Given the description of an element on the screen output the (x, y) to click on. 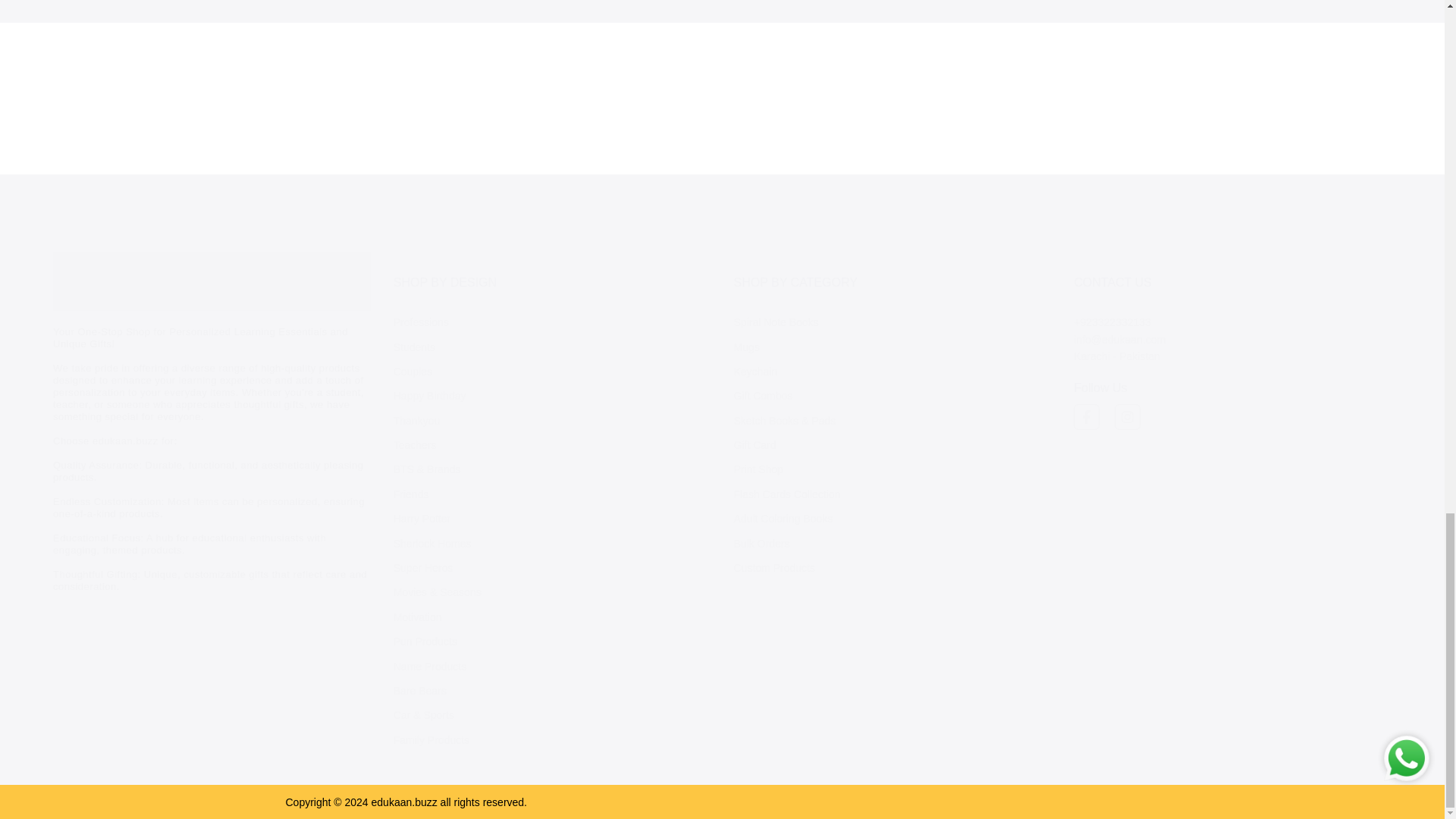
Follow on Facebook (1086, 416)
Sherlock Homes (432, 543)
Thankyou (416, 420)
Happy Birthday (429, 395)
Follow on Instagram (1127, 416)
Couples (412, 371)
Teachers (414, 444)
Harry Potter (421, 518)
Students (414, 346)
Friends (411, 494)
Professions (420, 322)
